Given the description of an element on the screen output the (x, y) to click on. 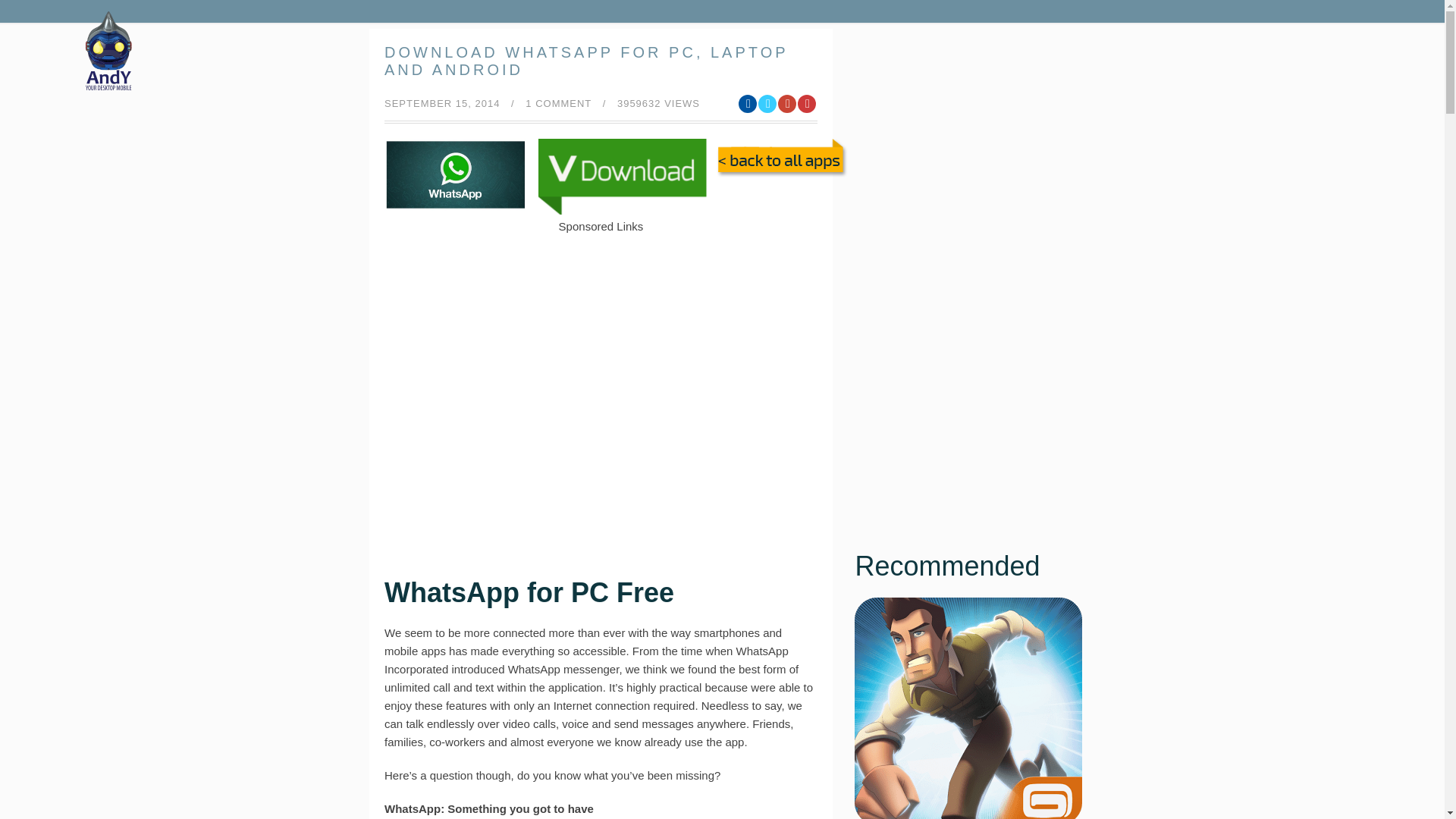
DOWNLOAD WHATSAPP FOR PC, LAPTOP AND ANDROID (585, 60)
Advertisement (600, 419)
Advertisement (600, 269)
1 COMMENT (558, 102)
